Given the description of an element on the screen output the (x, y) to click on. 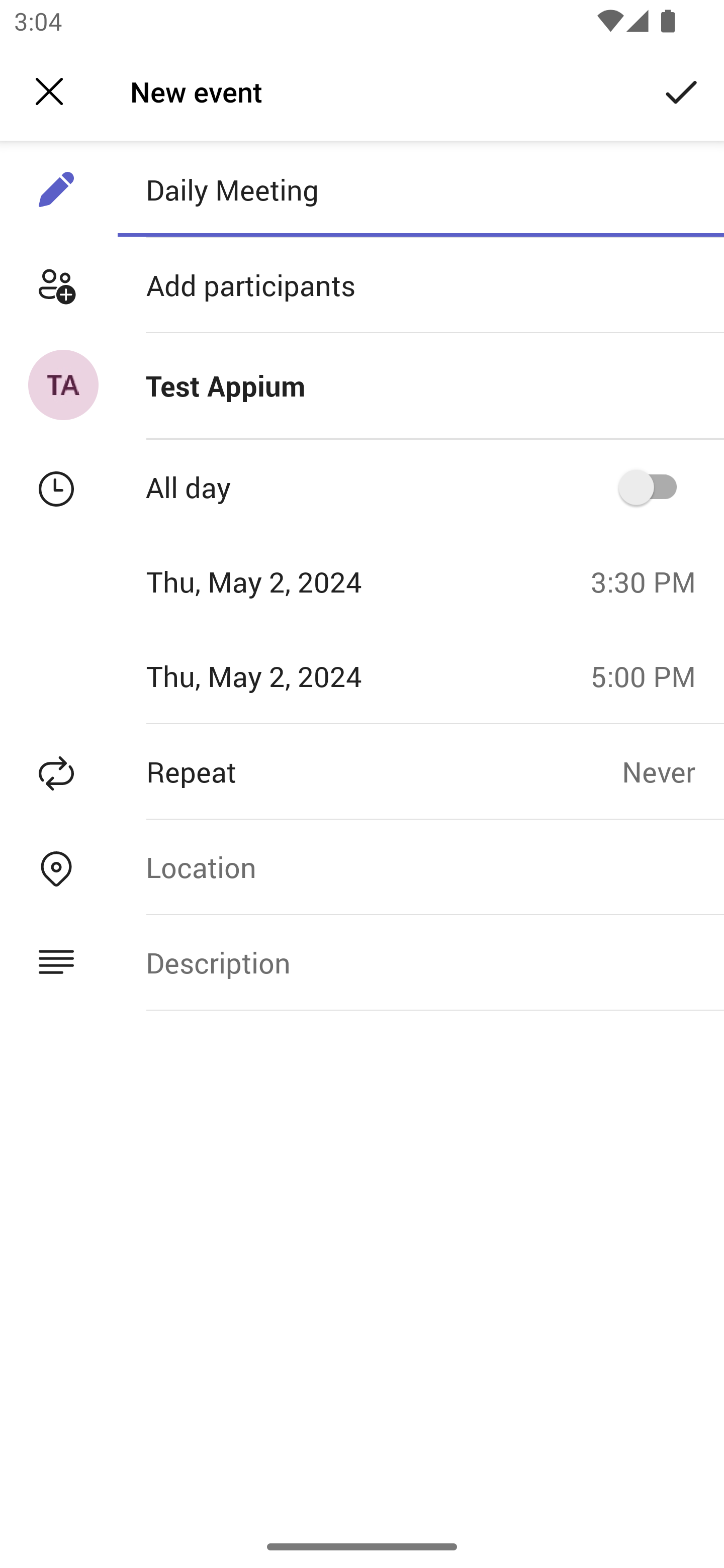
Back (49, 91)
Send invite (681, 90)
Daily Meeting (420, 189)
Add participants Add participants option (362, 285)
All day (654, 486)
Thu, May 2, 2024 Starts Thursday May 02, 2024 (288, 581)
3:30 PM Start time 3:30 PM (650, 581)
Thu, May 2, 2024 Ends Thursday May 02, 2024 (288, 675)
5:00 PM End time 5:00 PM (650, 675)
Repeat (310, 771)
Never Repeat Never (672, 771)
Location (420, 867)
Description (420, 962)
